Given the description of an element on the screen output the (x, y) to click on. 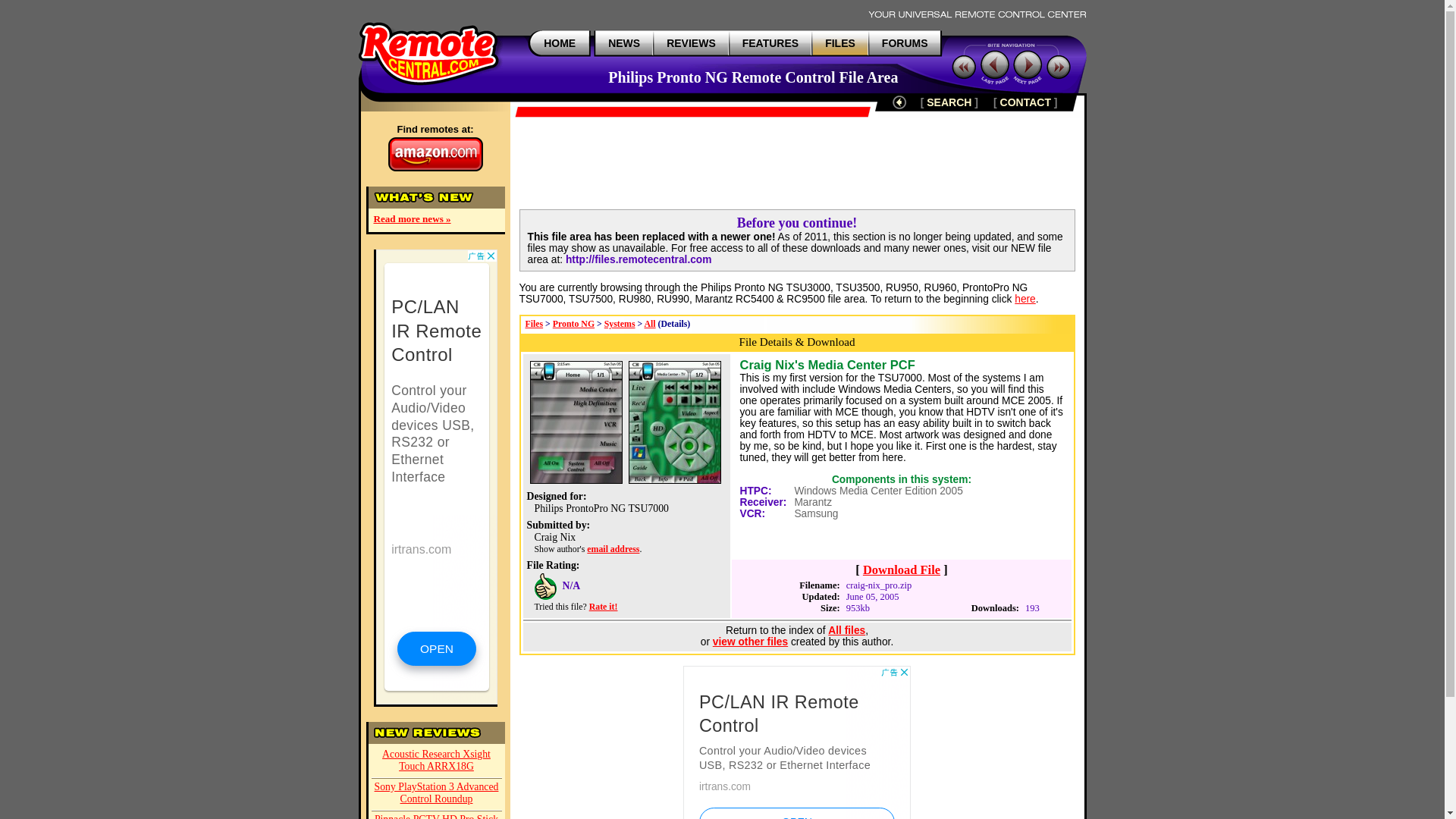
Rate it! (603, 606)
Find out what's new (624, 42)
FORUMS (905, 42)
Find what you need (948, 102)
The remote control community (905, 42)
All files (846, 630)
Systems (619, 323)
Find remotes at: (434, 147)
Sony PlayStation 3 Advanced Control Roundup (436, 793)
FEATURES (769, 42)
